Given the description of an element on the screen output the (x, y) to click on. 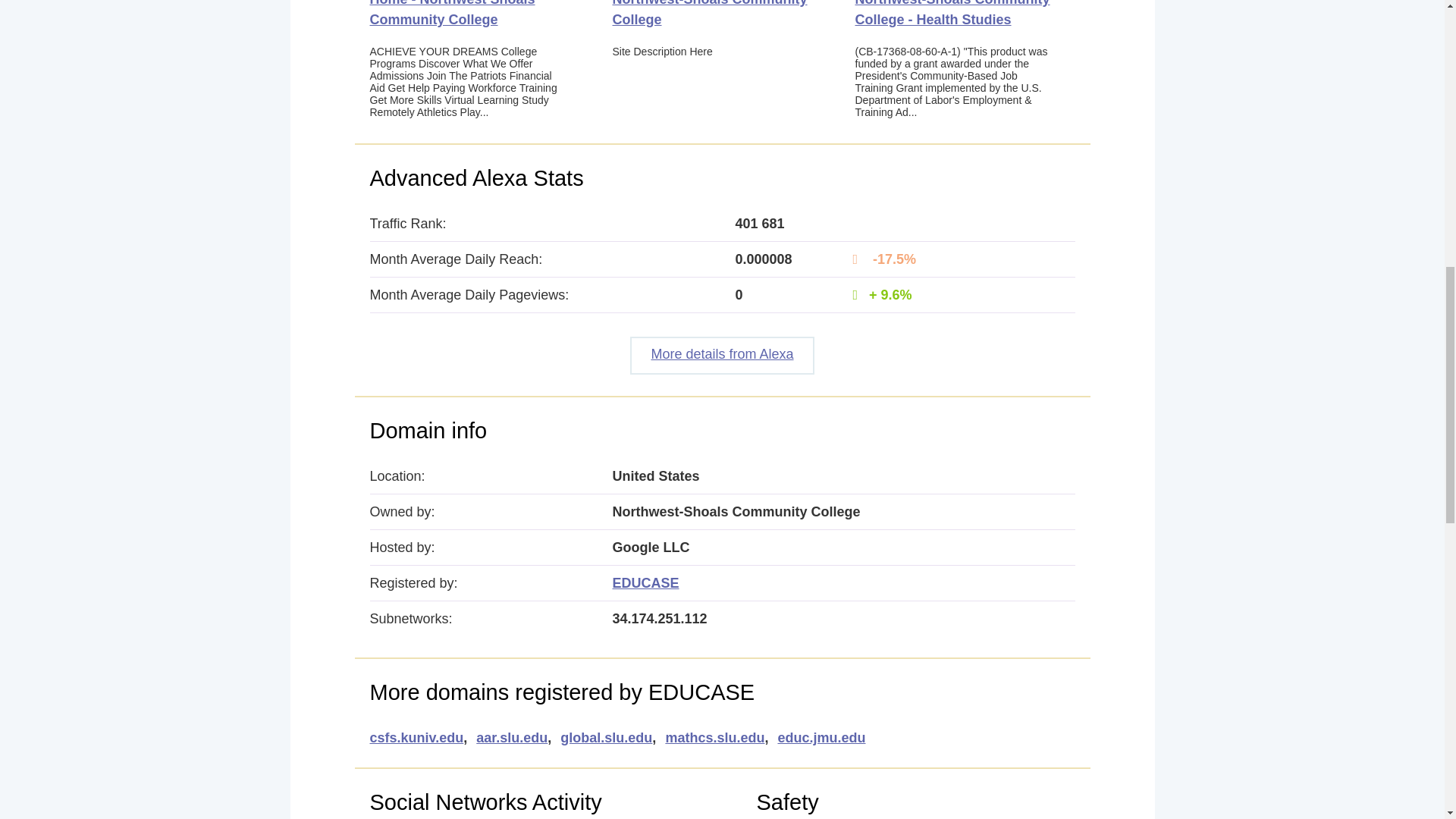
Home - Northwest Shoals Community College (452, 13)
Northwest-Shoals Community College - Health Studies (952, 13)
csfs.kuniv.edu (416, 738)
mathcs.slu.edu (714, 738)
educ.jmu.edu (820, 738)
global.slu.edu (606, 738)
Northwest-Shoals Community College (710, 13)
More details from Alexa (721, 355)
aar.slu.edu (511, 738)
EDUCASE (645, 582)
